Given the description of an element on the screen output the (x, y) to click on. 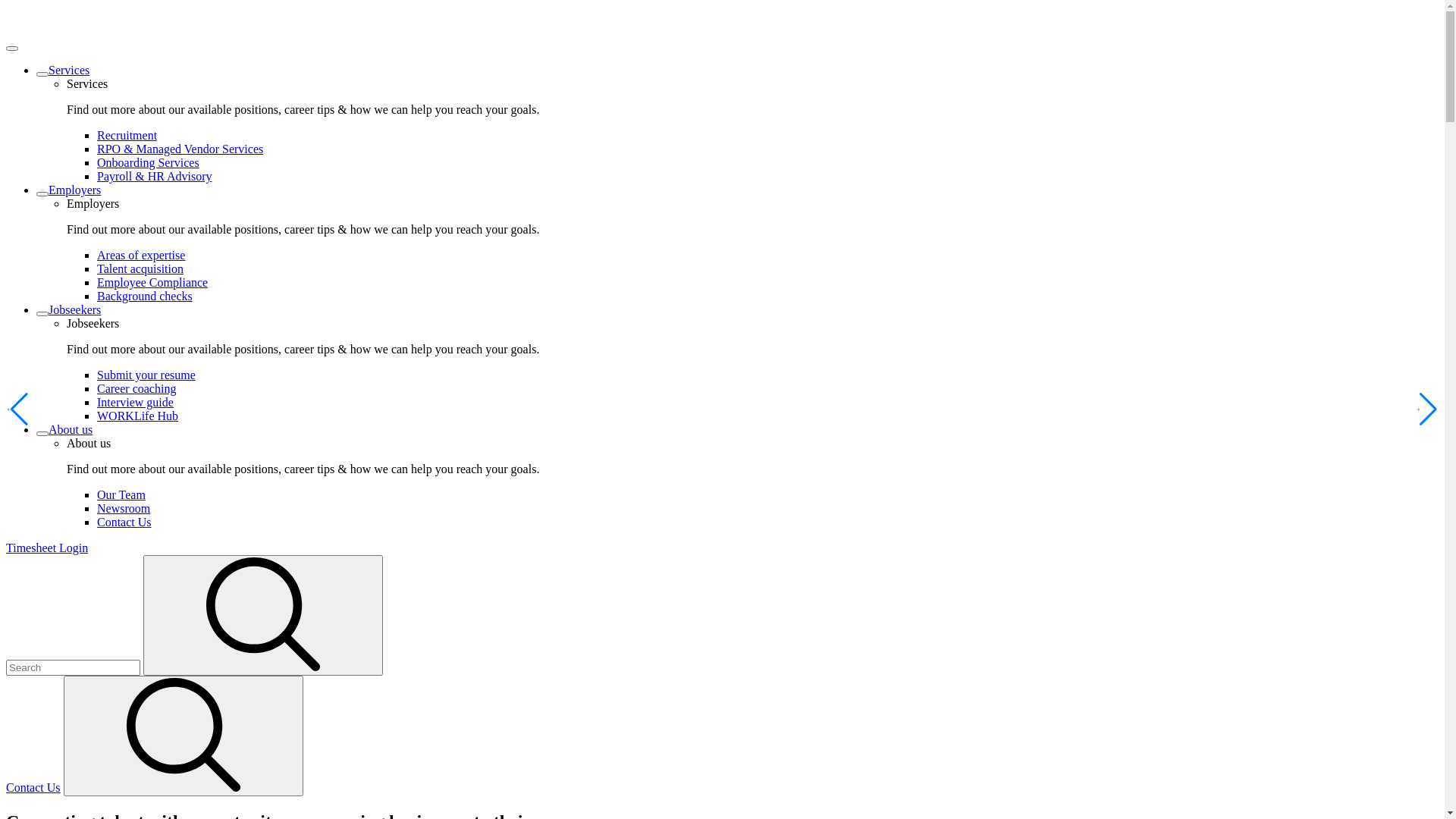
Contact Us Element type: text (33, 787)
Newsroom Element type: text (123, 508)
RPO & Managed Vendor Services Element type: text (180, 148)
Background checks Element type: text (144, 295)
Submit your resume Element type: text (146, 374)
About us Element type: text (70, 429)
Jobseekers Element type: text (74, 309)
WORKLife Hub Element type: text (137, 415)
Timesheet Login Element type: text (46, 547)
Talent acquisition Element type: text (140, 268)
Our Team Element type: text (121, 494)
Services Element type: text (68, 69)
Areas of expertise Element type: text (141, 254)
Payroll & HR Advisory Element type: text (154, 175)
Career coaching Element type: text (136, 388)
Onboarding Services Element type: text (148, 162)
Recruitment Element type: text (126, 134)
Interview guide Element type: text (135, 401)
Contact Us Element type: text (124, 521)
Employee Compliance Element type: text (152, 282)
Employers Element type: text (74, 189)
